Given the description of an element on the screen output the (x, y) to click on. 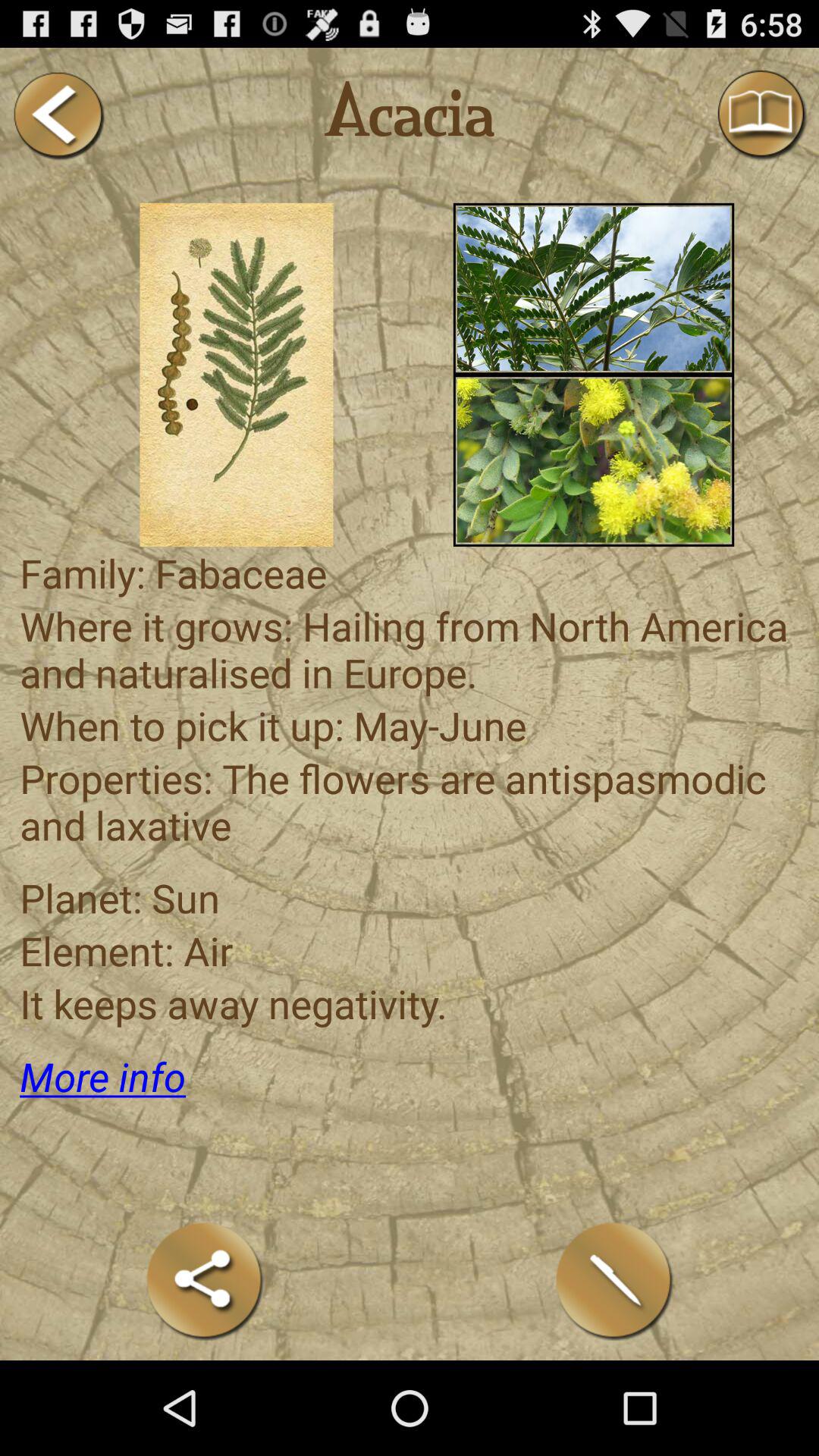
this button backspace (57, 115)
